Given the description of an element on the screen output the (x, y) to click on. 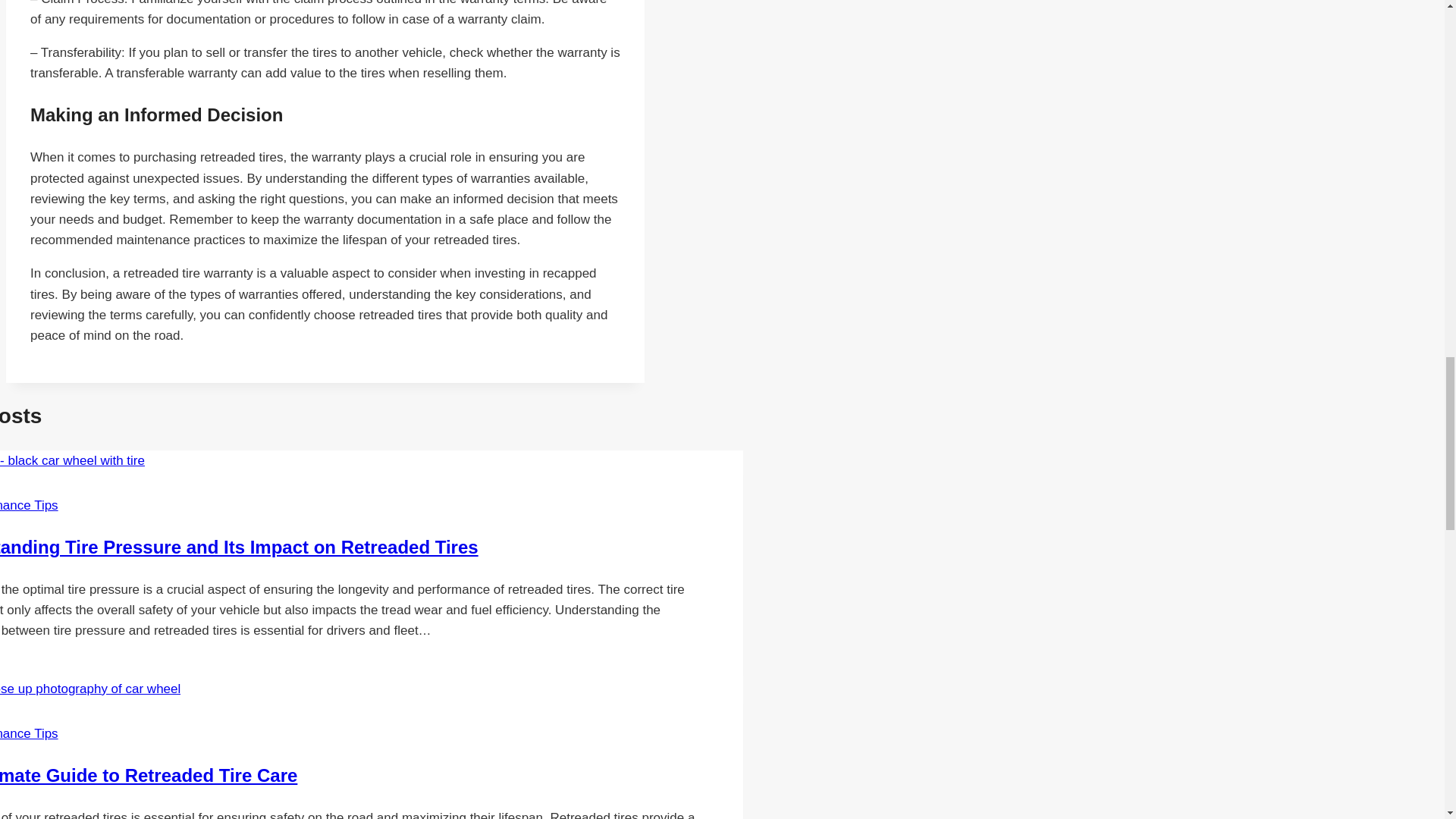
Tire Maintenance Tips (29, 733)
Tire Maintenance Tips (29, 504)
The Ultimate Guide to Retreaded Tire Care (148, 774)
